Given the description of an element on the screen output the (x, y) to click on. 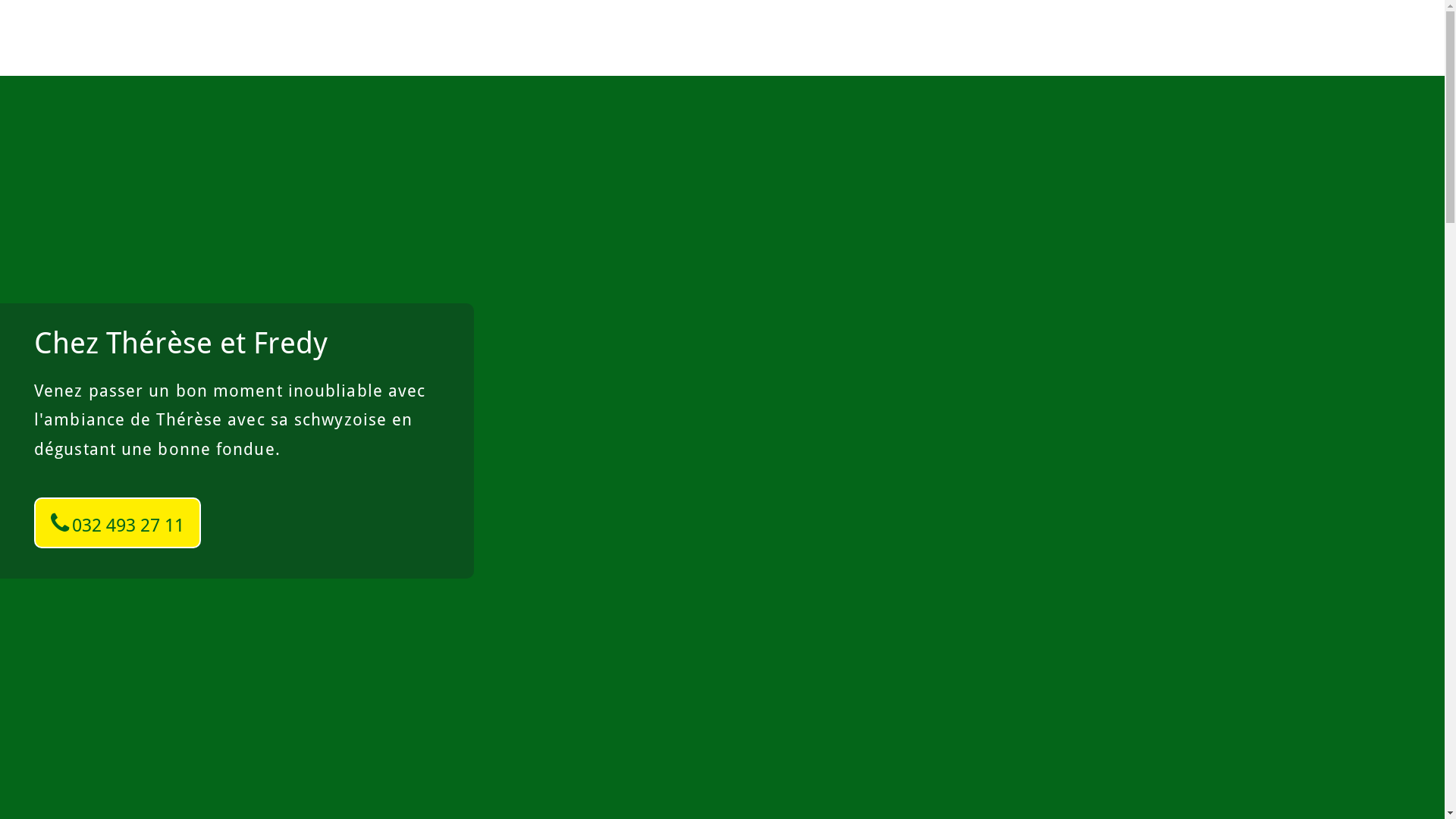
032 493 27 11 Element type: text (117, 522)
